Given the description of an element on the screen output the (x, y) to click on. 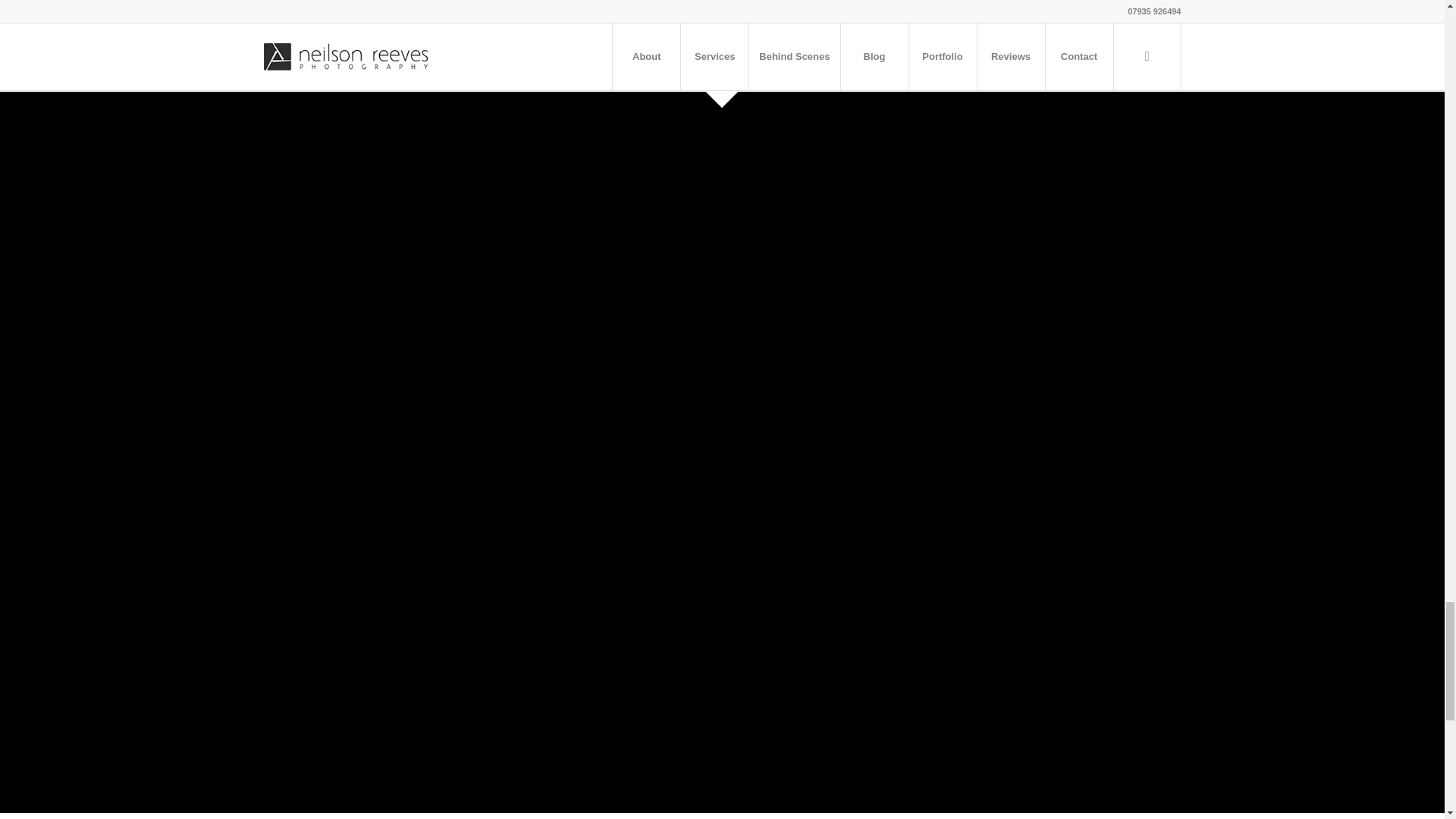
Contact me (298, 14)
